Given the description of an element on the screen output the (x, y) to click on. 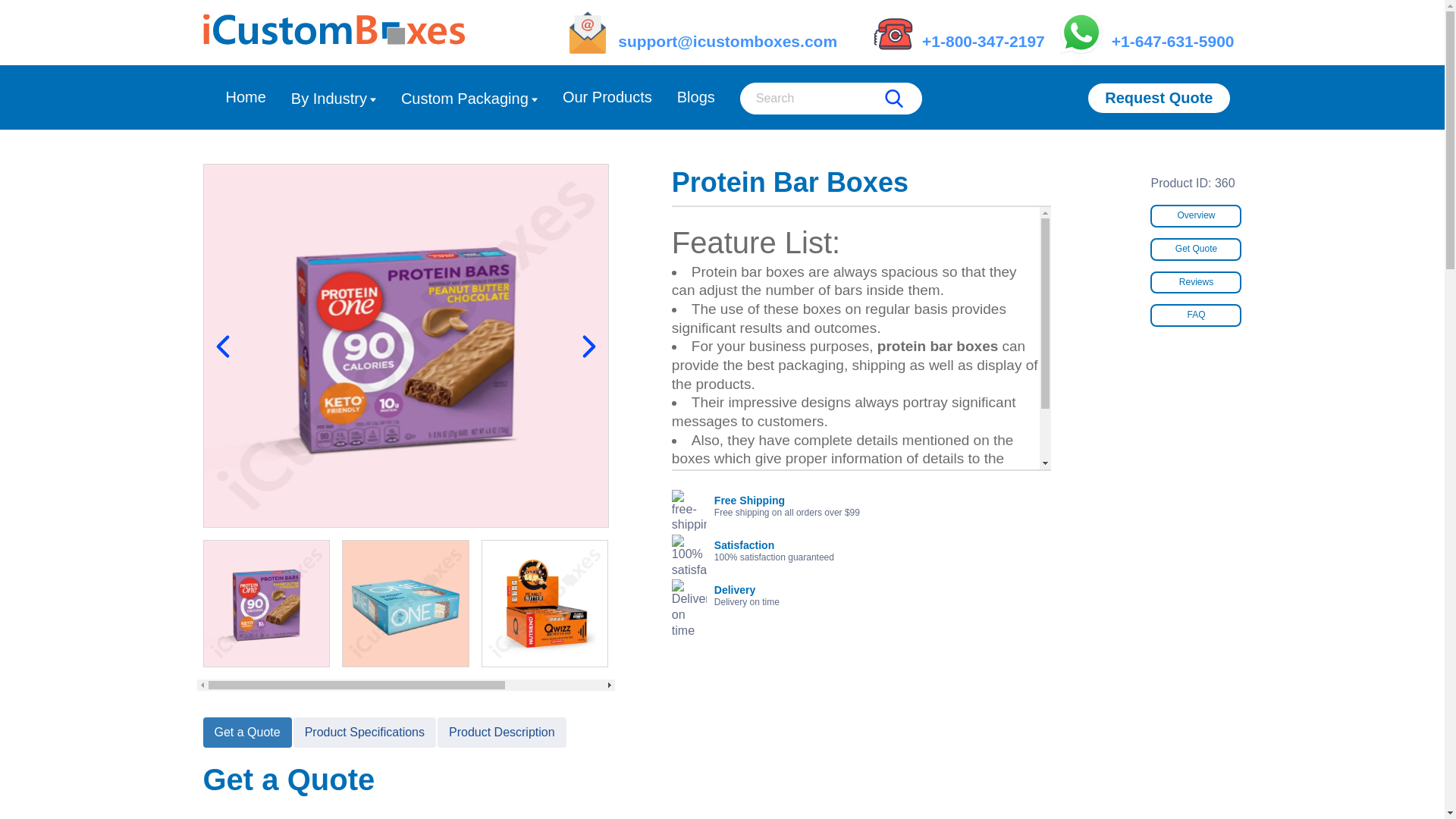
By Industry (333, 98)
Home (245, 96)
